Given the description of an element on the screen output the (x, y) to click on. 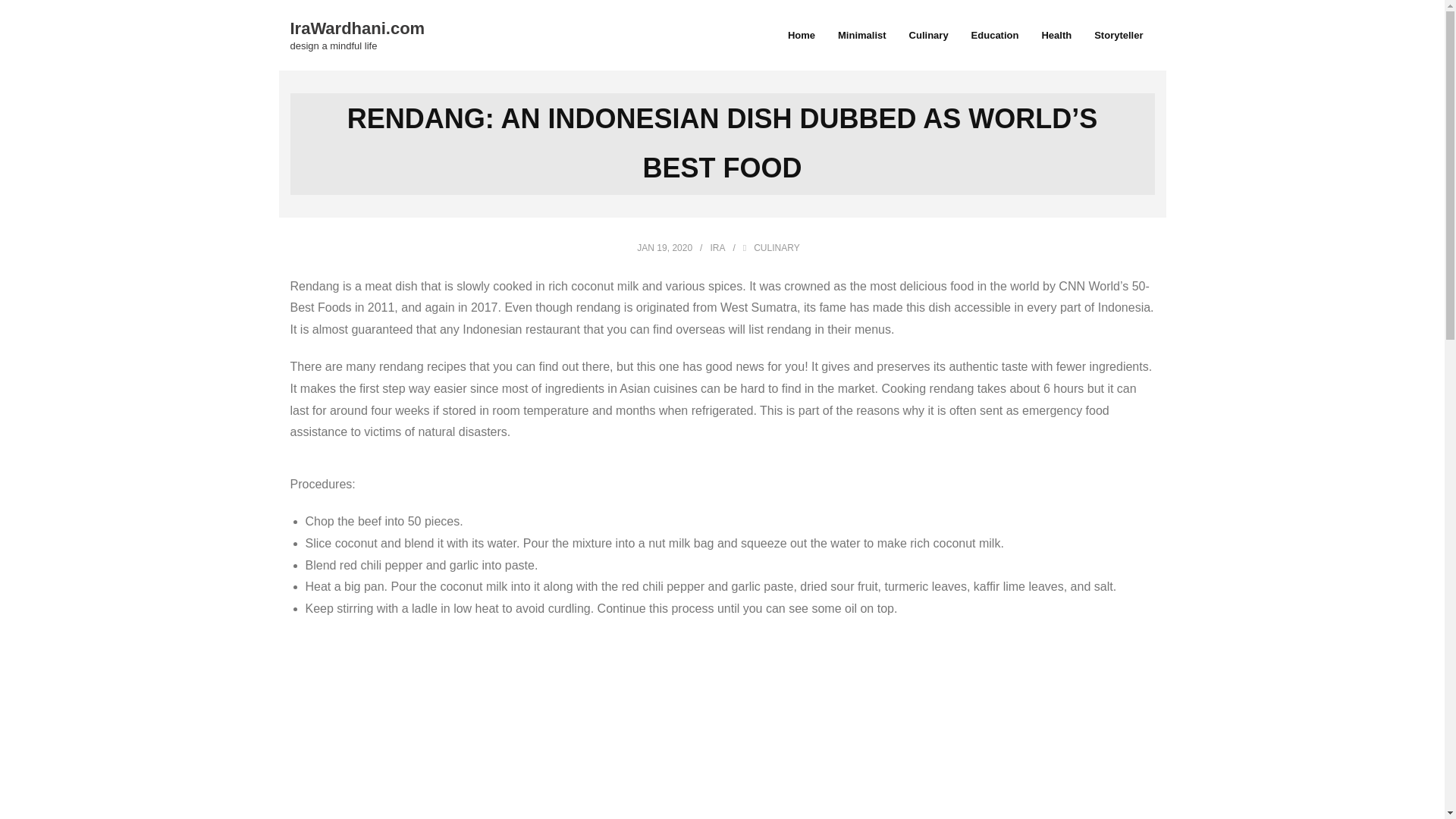
Education (994, 35)
CULINARY (357, 33)
Early process of making rendang (776, 247)
design a mindful life (357, 28)
JAN 19, 2020 (357, 45)
View all posts by Ira (665, 247)
IRA (717, 247)
Storyteller (717, 247)
Minimalist (1118, 35)
